Given the description of an element on the screen output the (x, y) to click on. 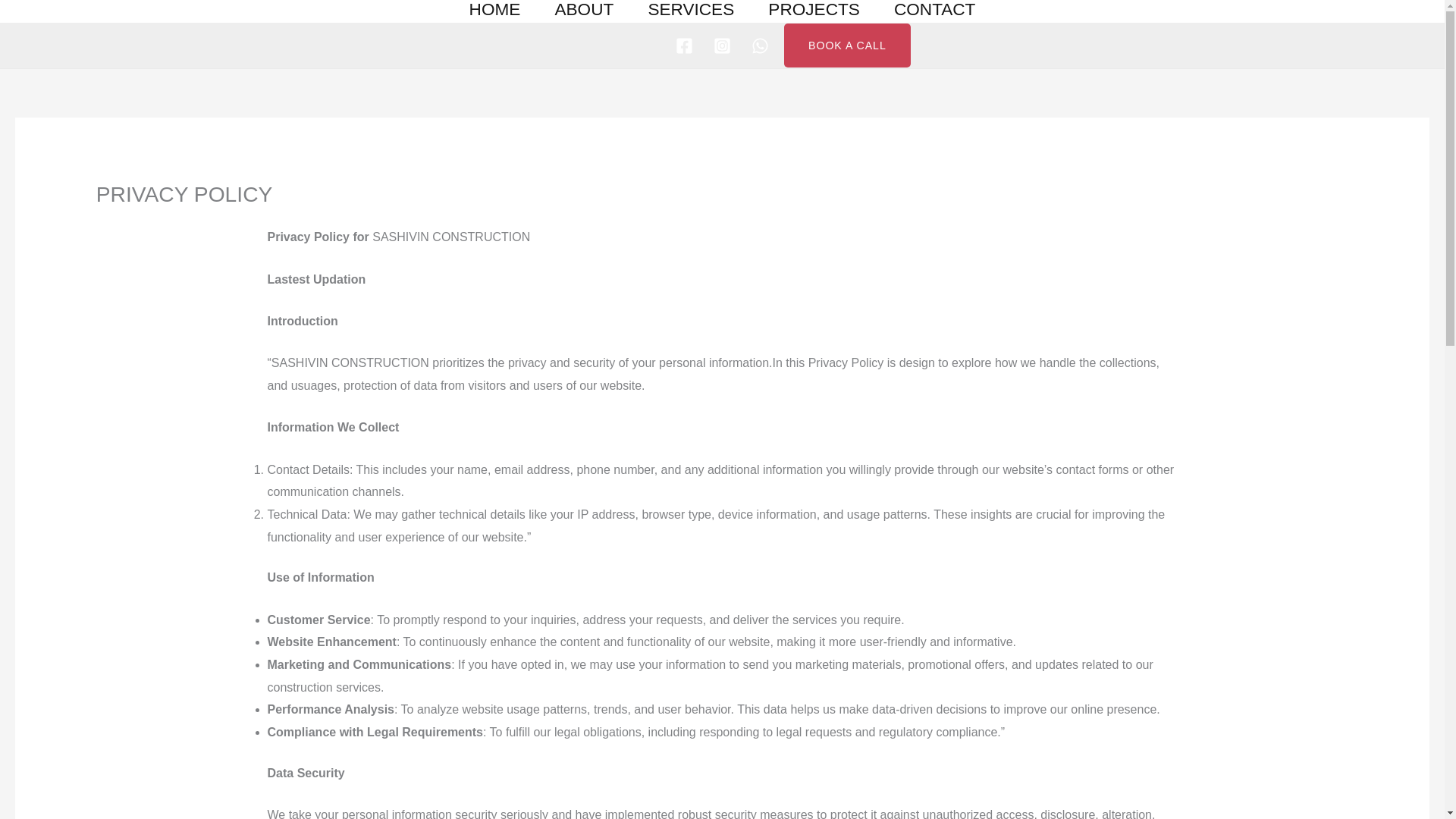
PROJECTS (814, 9)
BOOK A CALL (847, 45)
ABOUT (583, 9)
CONTACT (934, 9)
SERVICES (690, 9)
HOME (494, 9)
